Given the description of an element on the screen output the (x, y) to click on. 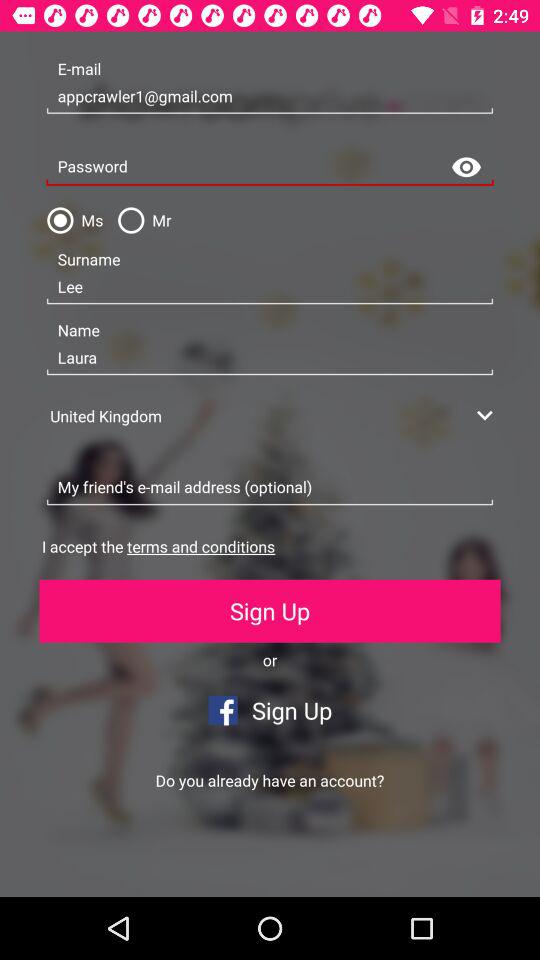
turn off the icon to the left of sign up icon (135, 864)
